Given the description of an element on the screen output the (x, y) to click on. 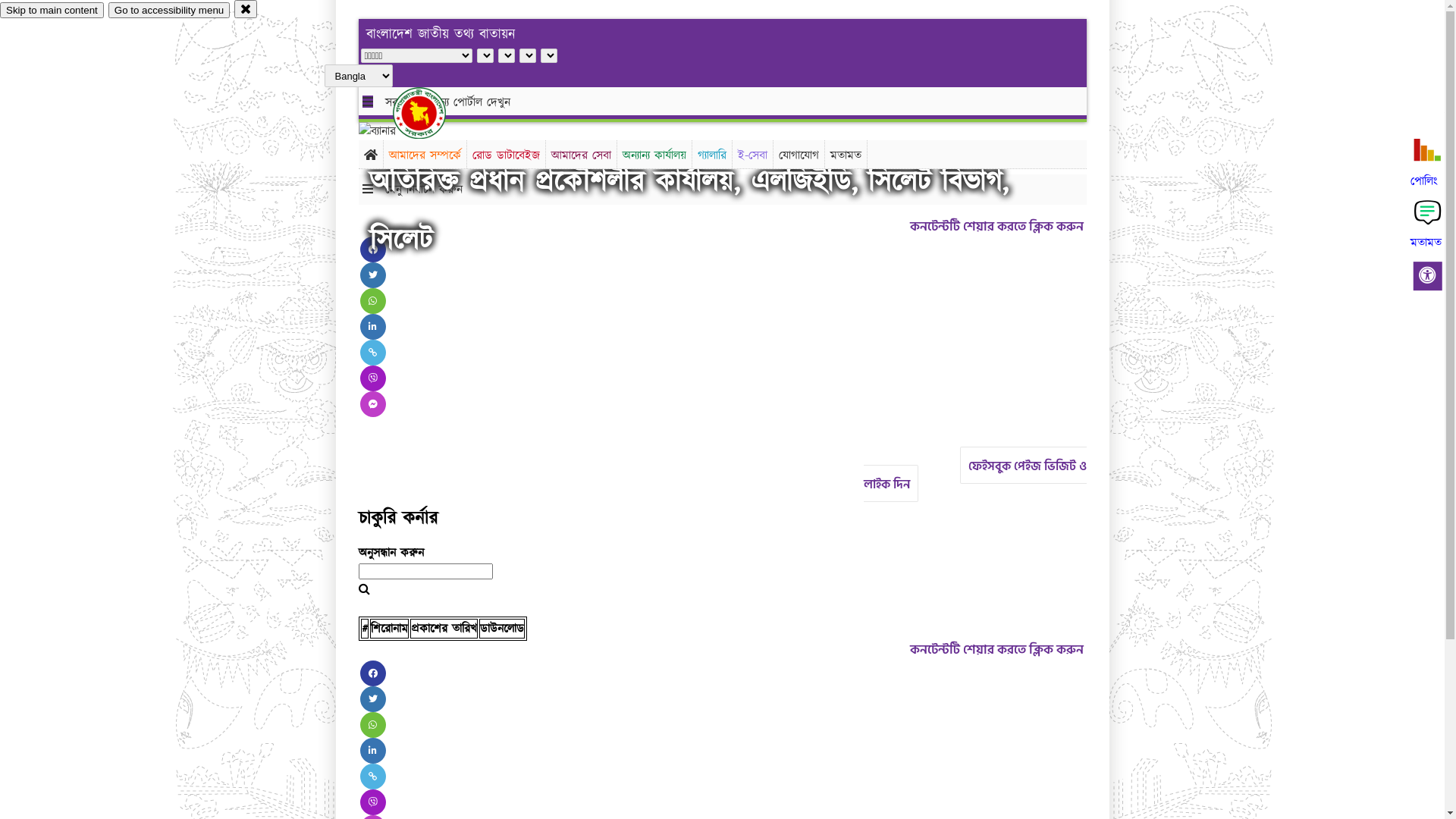
close Element type: hover (245, 9)
Go to accessibility menu Element type: text (168, 10)
Skip to main content Element type: text (51, 10)

                
             Element type: hover (431, 112)
